Given the description of an element on the screen output the (x, y) to click on. 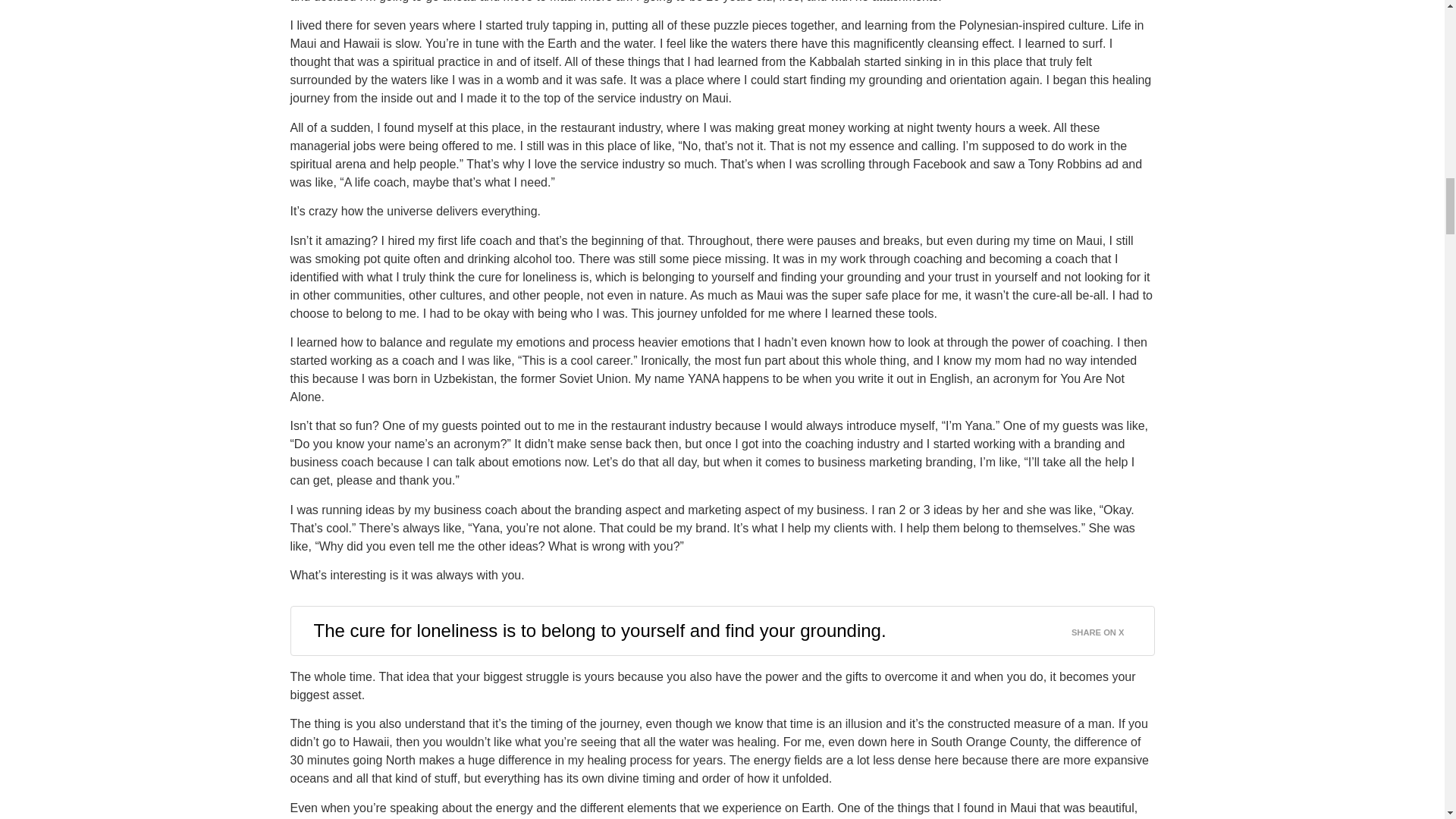
SHARE ON X (1106, 628)
